Given the description of an element on the screen output the (x, y) to click on. 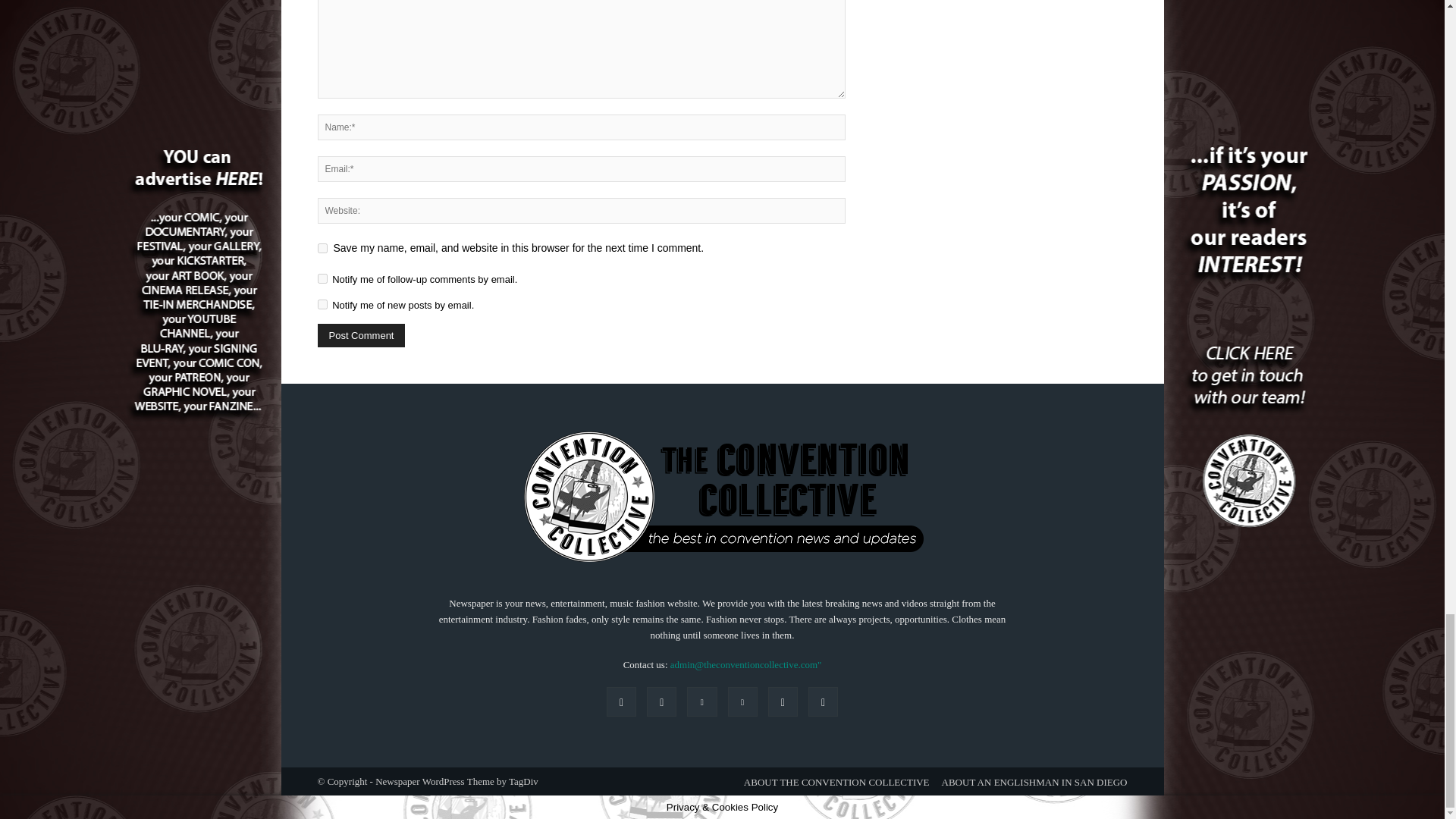
yes (321, 248)
Post Comment (360, 335)
subscribe (321, 304)
subscribe (321, 278)
